Given the description of an element on the screen output the (x, y) to click on. 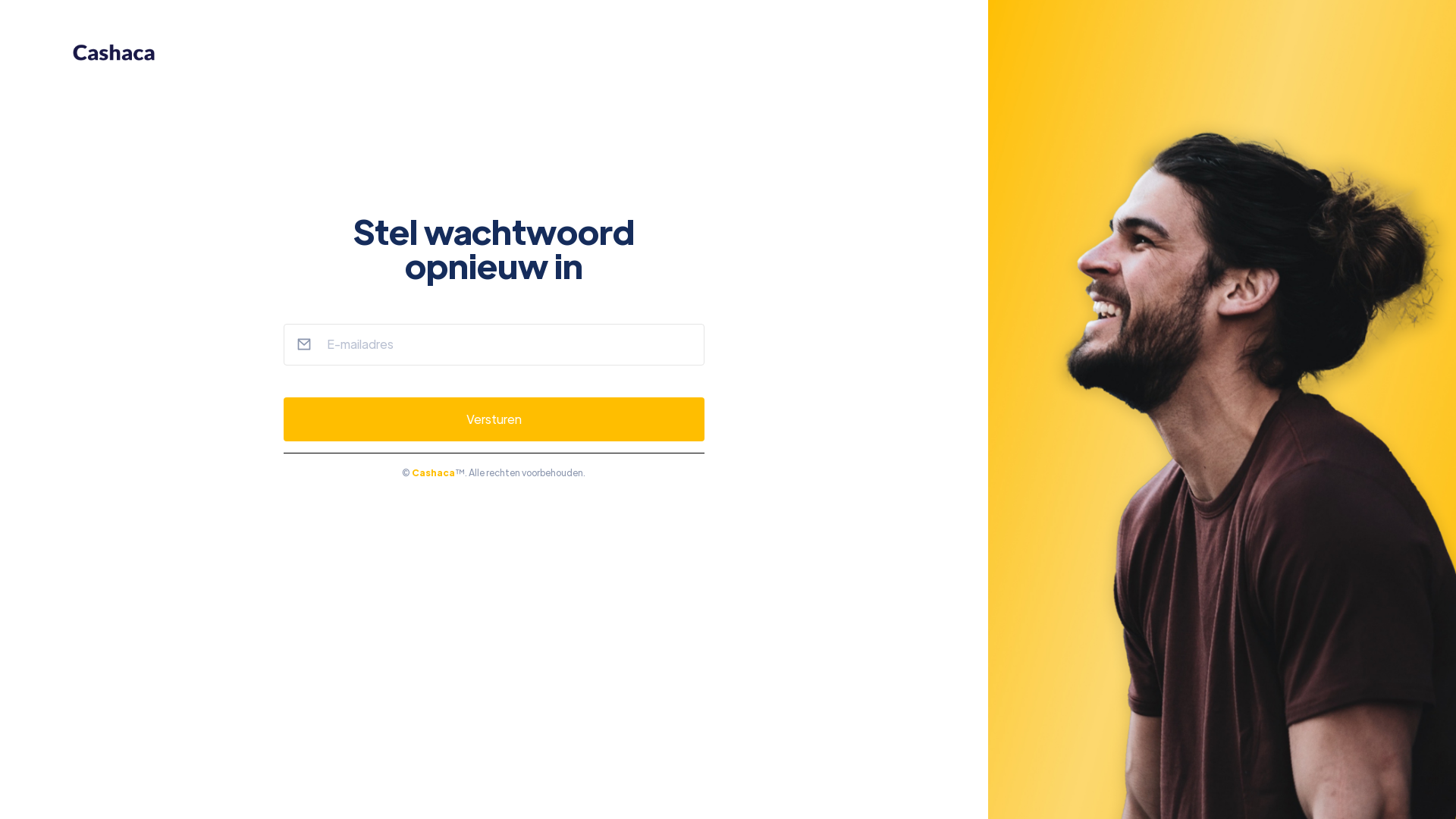
Cashaca Element type: text (433, 472)
Versturen Element type: text (493, 419)
